Given the description of an element on the screen output the (x, y) to click on. 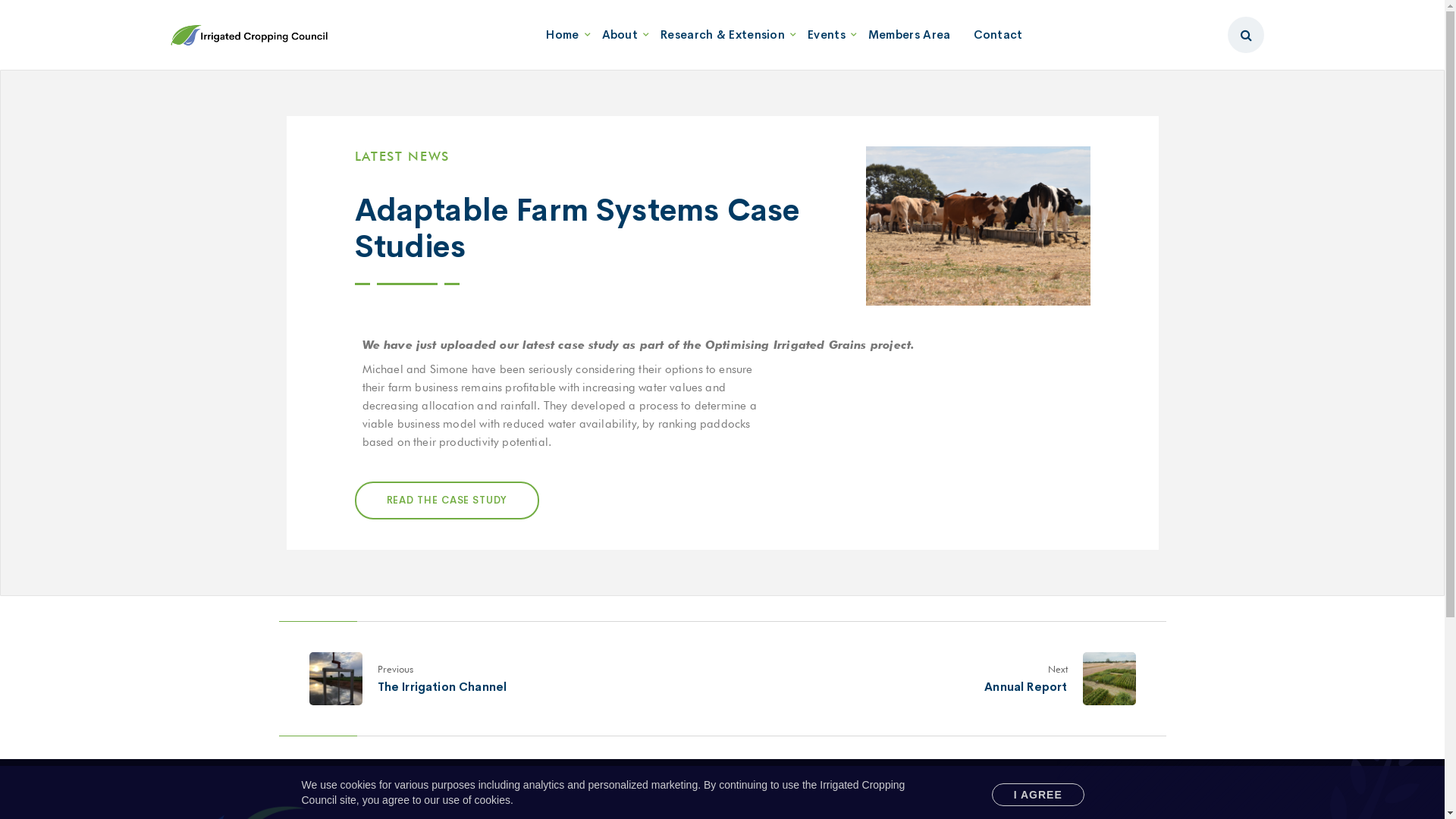
I AGREE Element type: text (1037, 793)
Contact Element type: text (997, 34)
Events Element type: text (826, 34)
Annual Report Element type: text (1025, 686)
Home Element type: text (562, 34)
READ THE CASE STUDY Element type: text (446, 500)
About Element type: text (620, 34)
The Irrigation Channel Element type: text (442, 686)
Research & Extension Element type: text (722, 34)
Members Area Element type: text (909, 34)
Irrigation Farmers Network Element type: hover (248, 35)
